Given the description of an element on the screen output the (x, y) to click on. 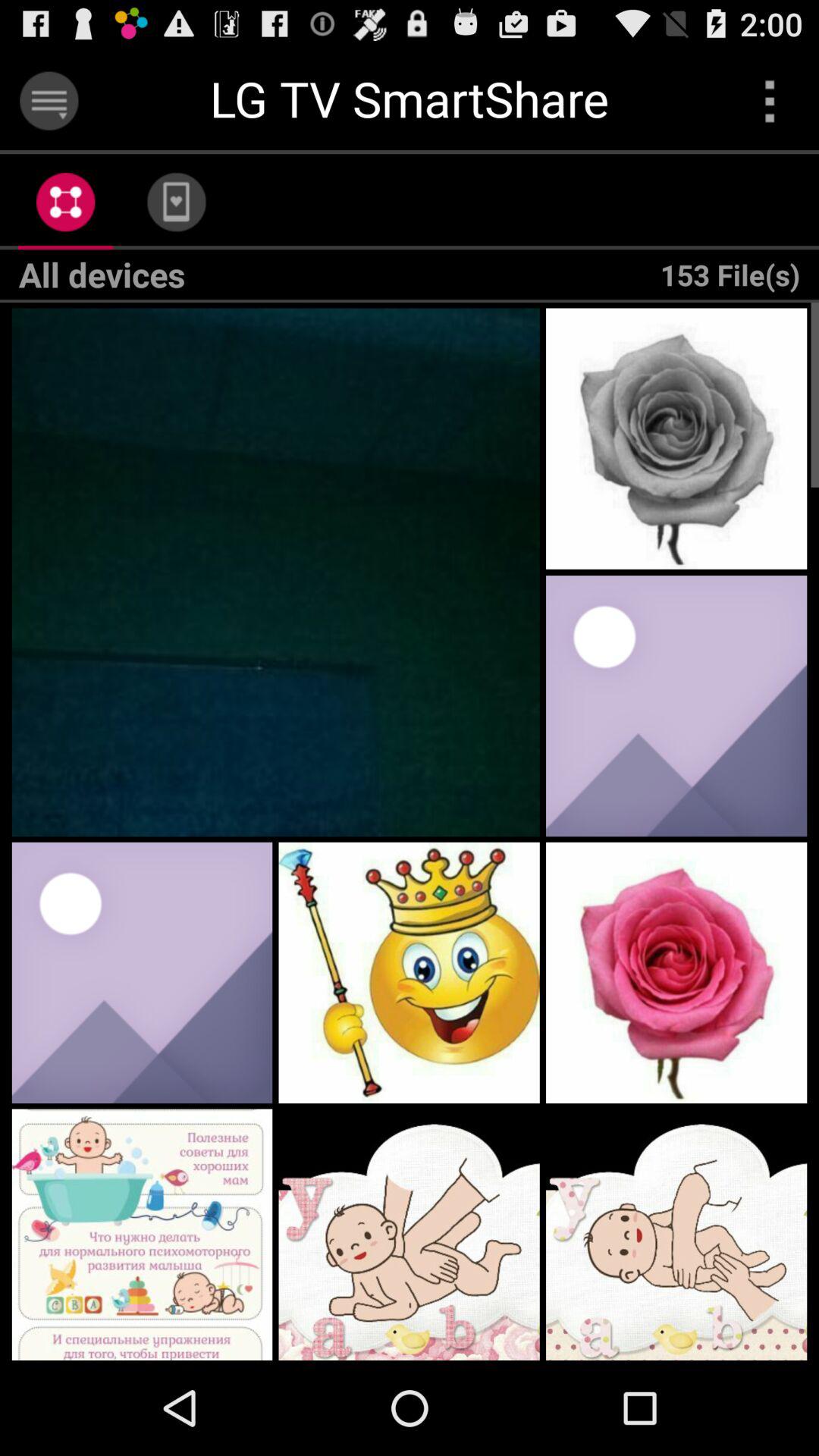
open menu (769, 100)
